Given the description of an element on the screen output the (x, y) to click on. 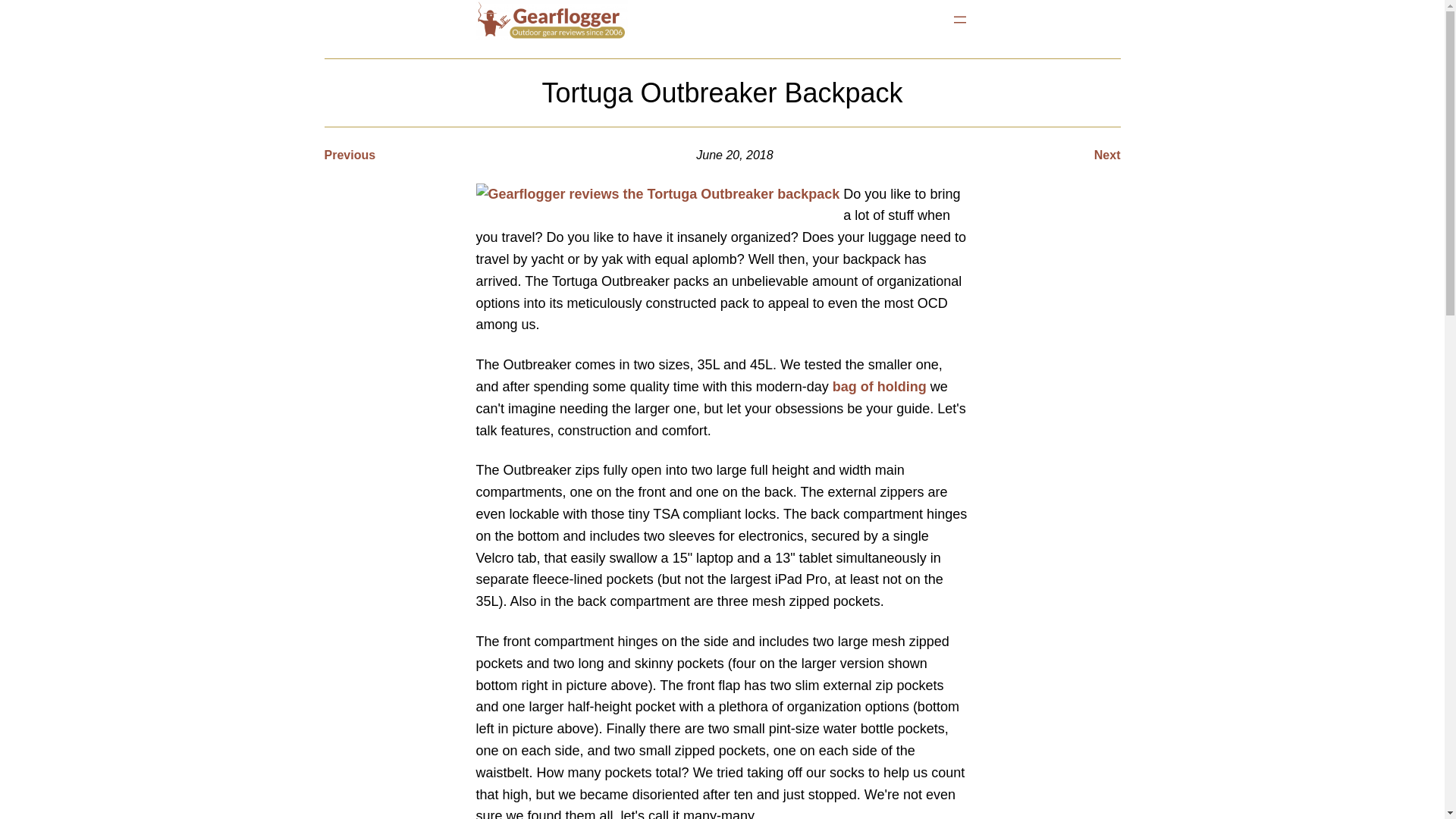
Gearflogger reviews the Tortuga Outbreaker backpack (658, 194)
Previous (349, 154)
Next (1107, 154)
bag of holding (879, 386)
